Given the description of an element on the screen output the (x, y) to click on. 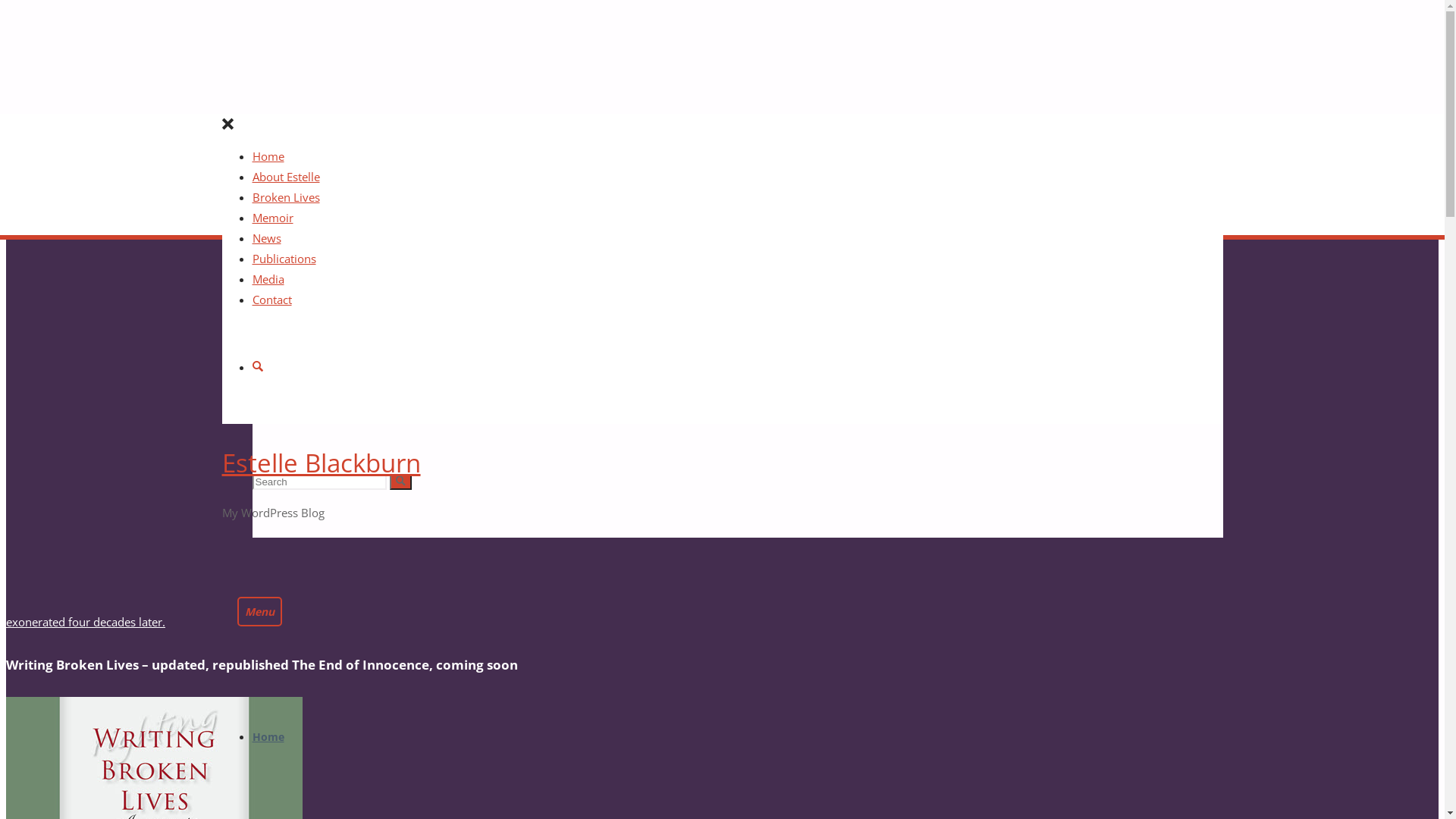
Memoir Element type: text (271, 217)
Publications Element type: text (283, 258)
About Estelle Element type: text (285, 176)
Search Element type: text (400, 481)
Search Element type: text (257, 366)
Estelle Blackburn Element type: text (320, 462)
Media Element type: text (267, 278)
Contact Element type: text (271, 299)
Home Element type: text (267, 736)
Broken Lives Element type: text (285, 196)
Home Element type: text (267, 155)
News Element type: text (265, 237)
